Given the description of an element on the screen output the (x, y) to click on. 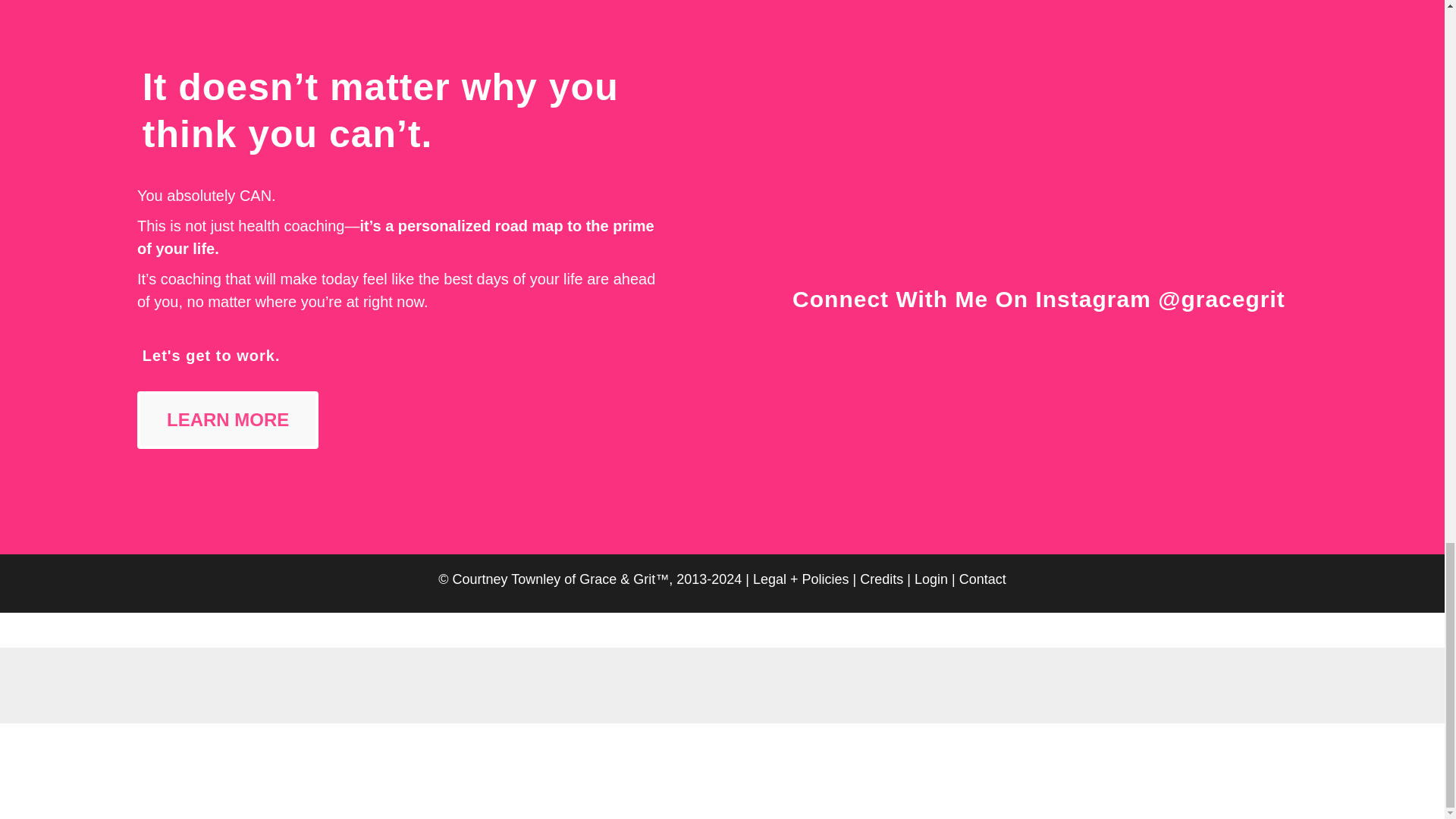
Let's get to work. (211, 355)
